Given the description of an element on the screen output the (x, y) to click on. 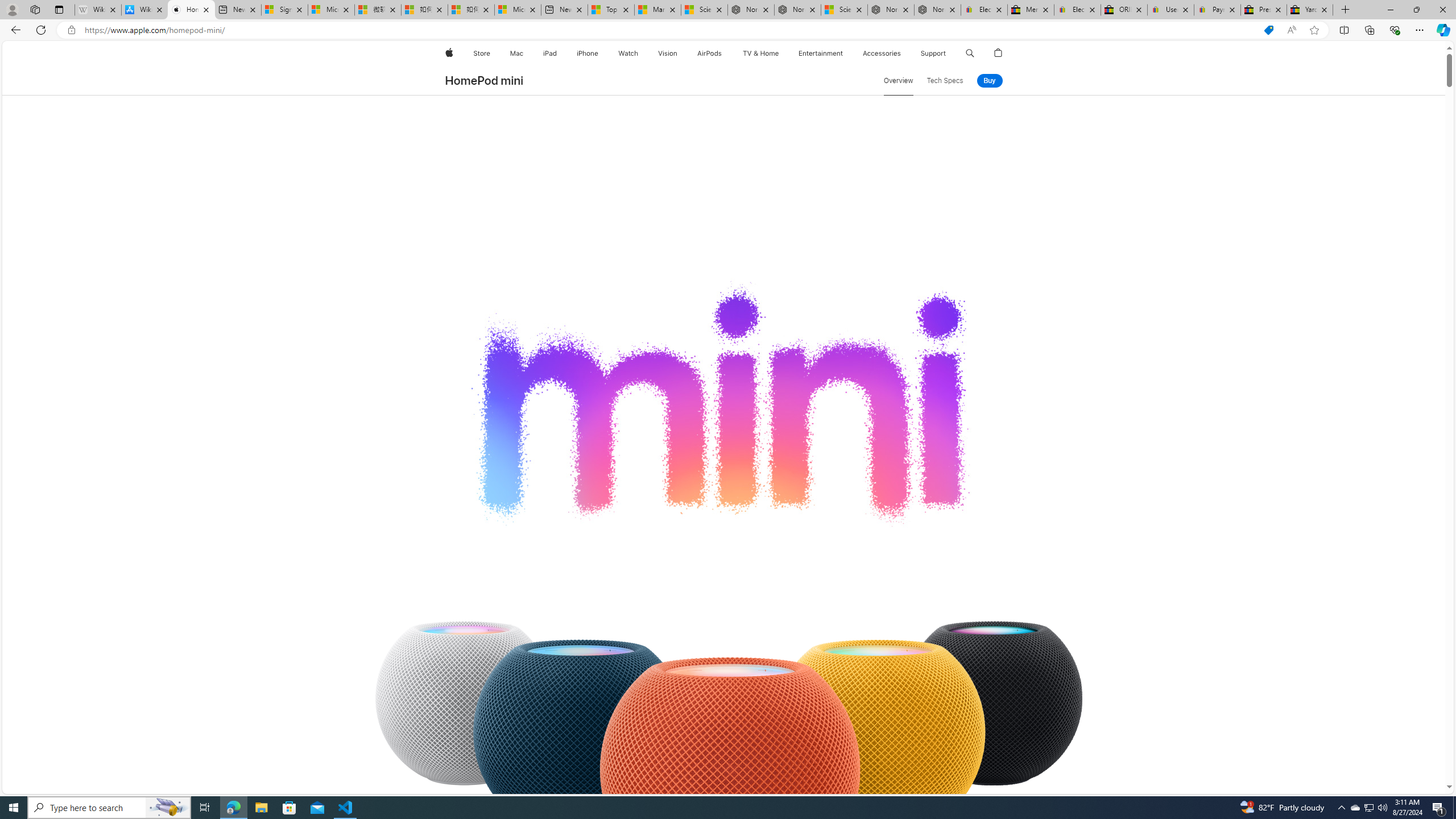
Support menu (948, 53)
Vision (667, 53)
Overview (897, 80)
Wikipedia - Sleeping (97, 9)
Mac (516, 53)
Vision (667, 53)
Vision menu (678, 53)
Apple (448, 53)
Watch (627, 53)
